Given the description of an element on the screen output the (x, y) to click on. 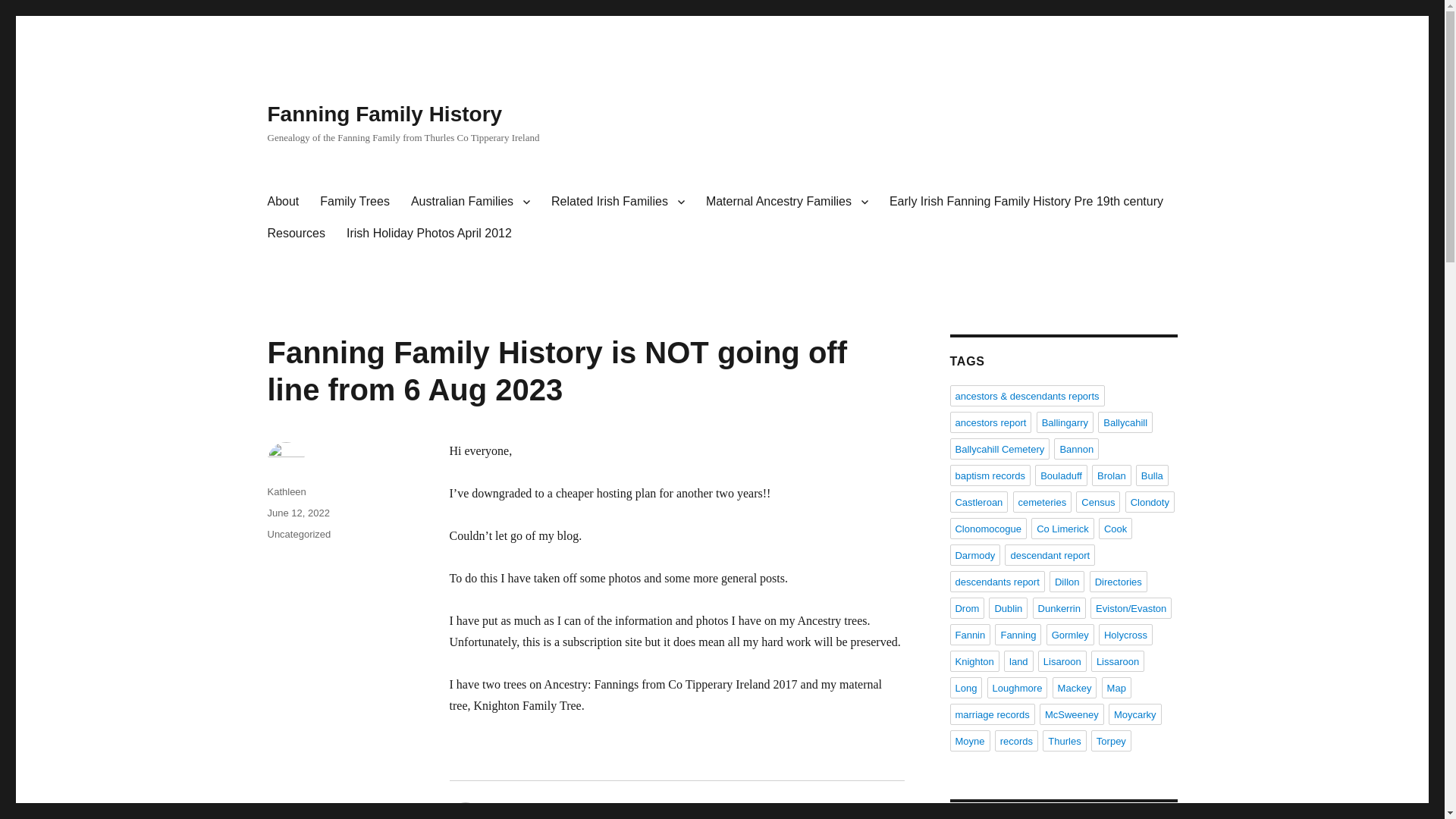
Related Irish Families (617, 201)
Maternal Ancestry Families (787, 201)
Family Trees (354, 201)
Australian Families (470, 201)
About (282, 201)
Fanning Family History (384, 114)
Early Irish Fanning Family History Pre 19th century (1026, 201)
Resources (295, 233)
